Given the description of an element on the screen output the (x, y) to click on. 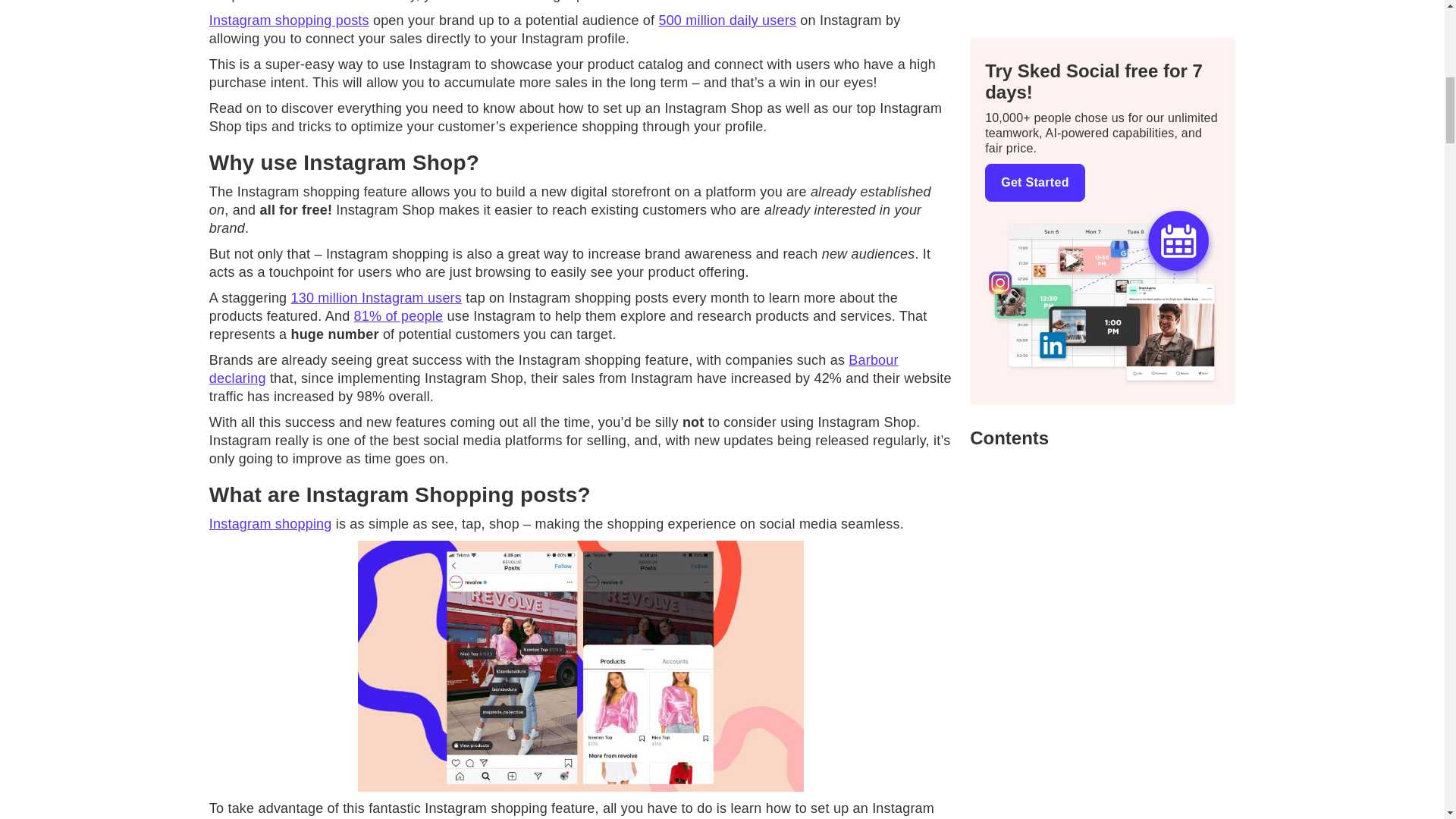
500 million daily users (727, 20)
Instagram shopping posts (289, 20)
Barbour declaring (553, 368)
130 million Instagram users (377, 297)
Instagram shopping (270, 523)
